Given the description of an element on the screen output the (x, y) to click on. 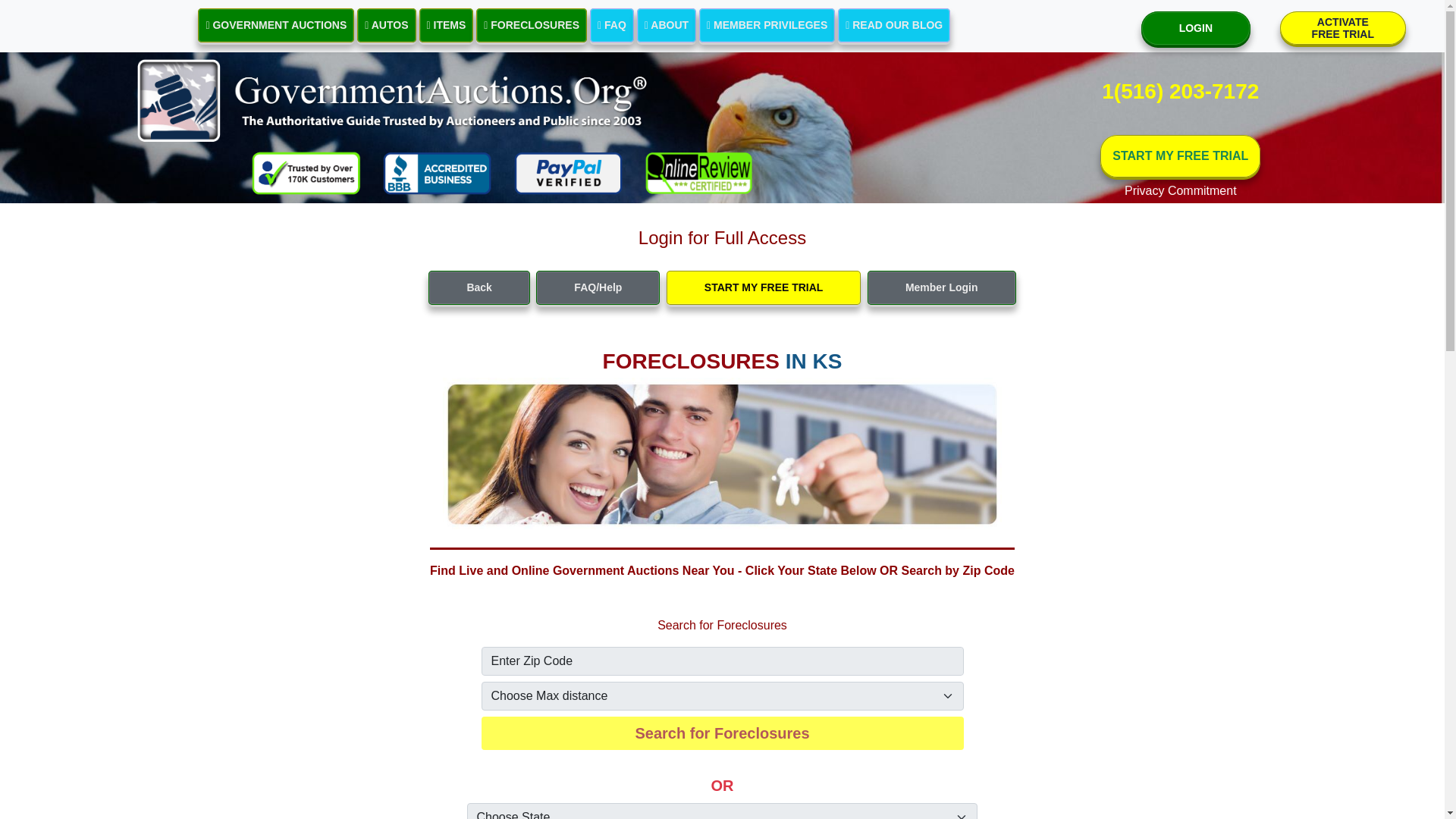
READ OUR BLOG (894, 25)
GOVERNMENT AUCTIONS (275, 25)
Enter Zip Code (721, 661)
Privacy Commitment (1180, 190)
START MY FREE TRIAL (1180, 156)
LOGIN (1195, 28)
FORECLOSURES (1342, 28)
FAQ (531, 25)
ABOUT (611, 25)
AUTOS (666, 25)
MEMBER PRIVILEGES (385, 25)
ITEMS (766, 25)
